Given the description of an element on the screen output the (x, y) to click on. 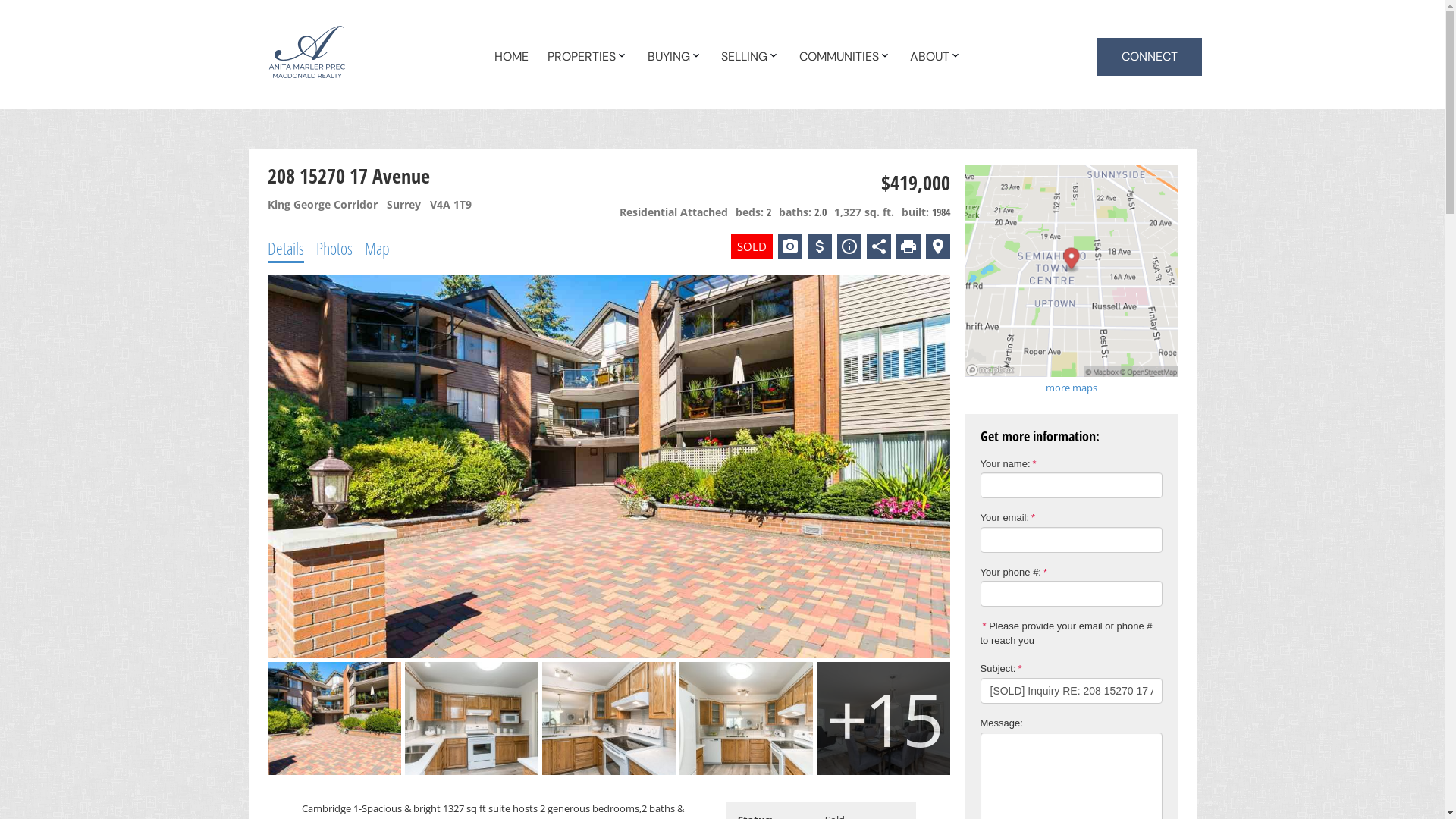
View on the map Element type: hover (937, 246)
Print listing Element type: hover (908, 246)
Details Element type: text (284, 247)
Photos Element type: text (333, 247)
HOME Element type: text (511, 57)
CONNECT Element type: text (1149, 56)
View photo gallery Element type: hover (790, 246)
Contact for more info Element type: hover (849, 246)
Map Element type: text (376, 247)
more maps Element type: text (1070, 387)
COMMUNITIES Element type: text (838, 57)
Share listing Element type: hover (878, 246)
Calculate Mortgage Element type: hover (818, 246)
